Given the description of an element on the screen output the (x, y) to click on. 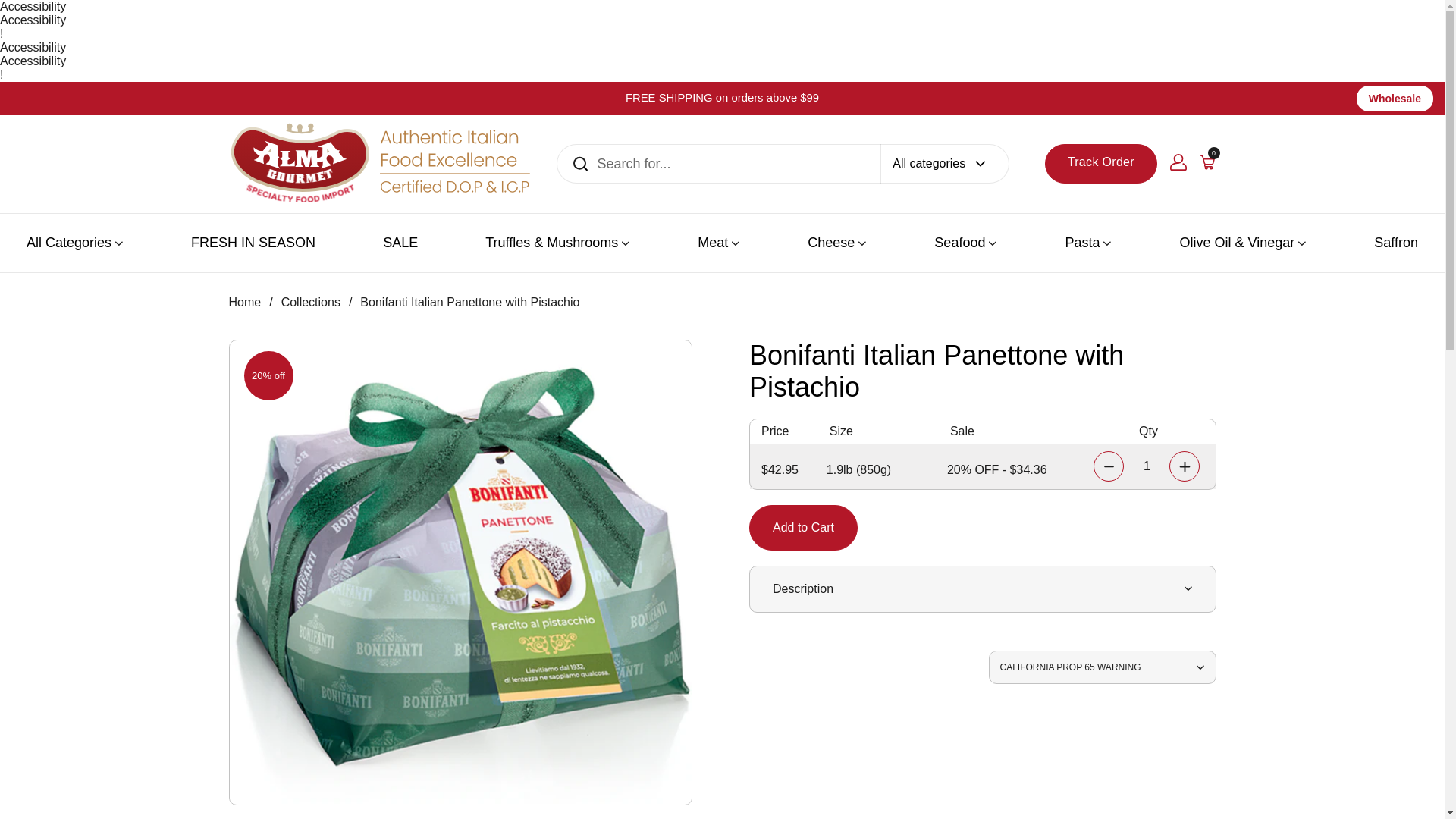
1 (1146, 465)
All Categories (74, 242)
Wholesale (1394, 97)
Alma Gourmet (380, 163)
All Categories (74, 242)
Track Order (1100, 163)
All categories (944, 163)
